Given the description of an element on the screen output the (x, y) to click on. 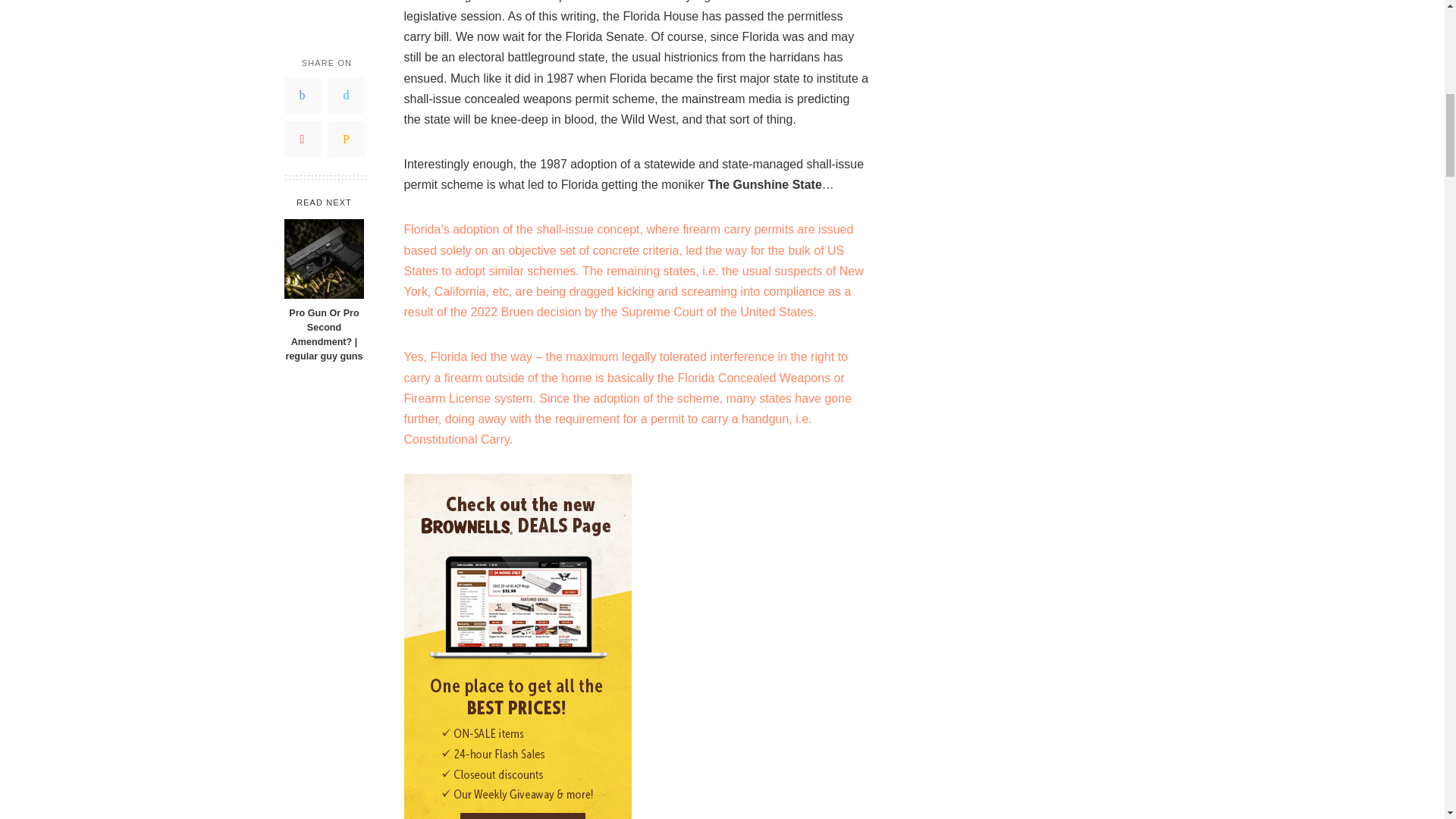
Email (345, 48)
Facebook (301, 11)
Pinterest (301, 48)
Twitter (345, 11)
